Given the description of an element on the screen output the (x, y) to click on. 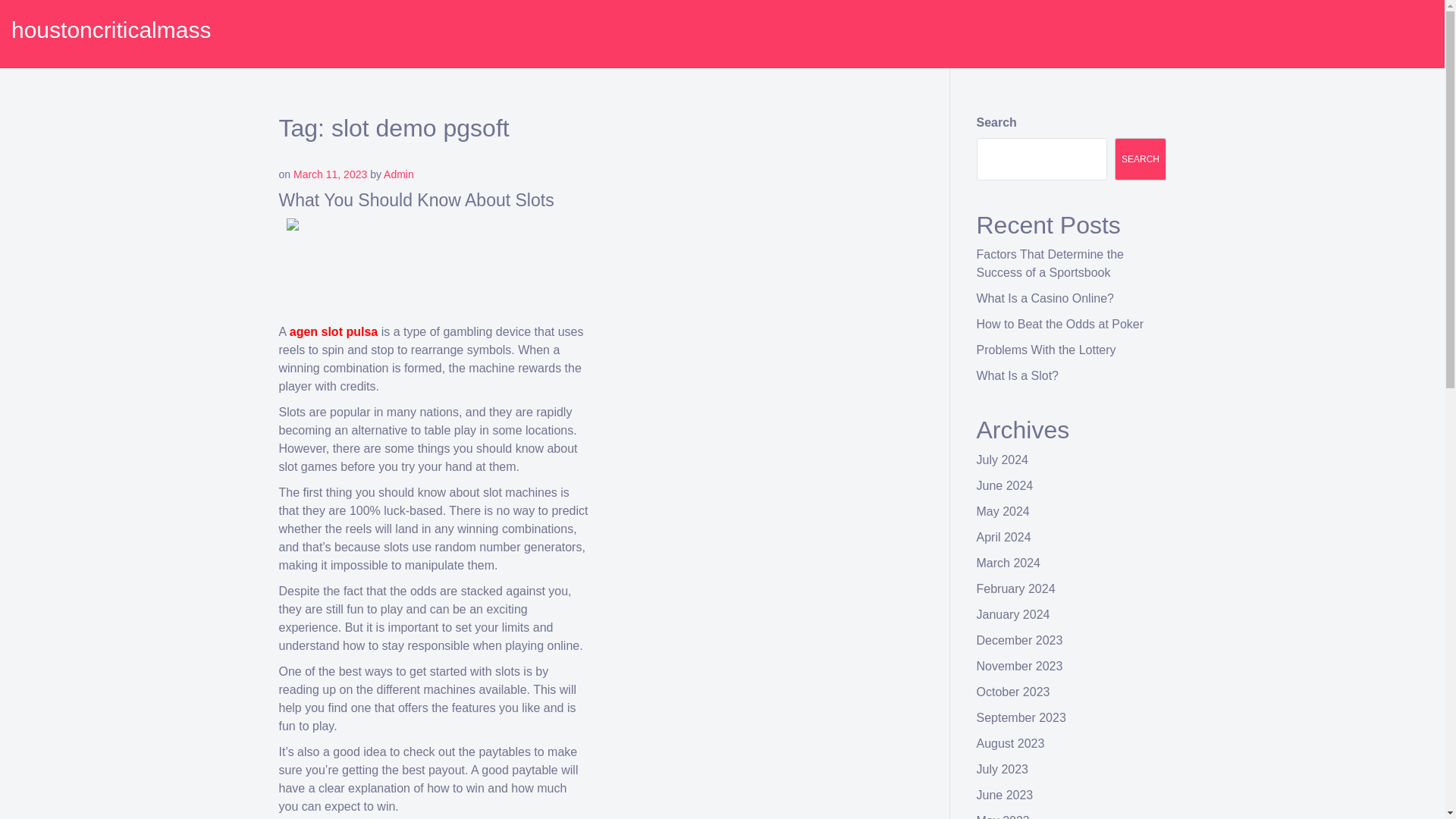
September 2023 (1020, 717)
houstoncriticalmass (111, 29)
November 2023 (1019, 666)
October 2023 (1012, 691)
Factors That Determine the Success of a Sportsbook (1050, 263)
July 2024 (1002, 459)
July 2023 (1002, 768)
Problems With the Lottery (1046, 349)
January 2024 (1012, 614)
March 11, 2023 (330, 174)
June 2023 (1004, 794)
SEARCH (1140, 159)
August 2023 (1010, 743)
Admin (398, 174)
April 2024 (1003, 536)
